Given the description of an element on the screen output the (x, y) to click on. 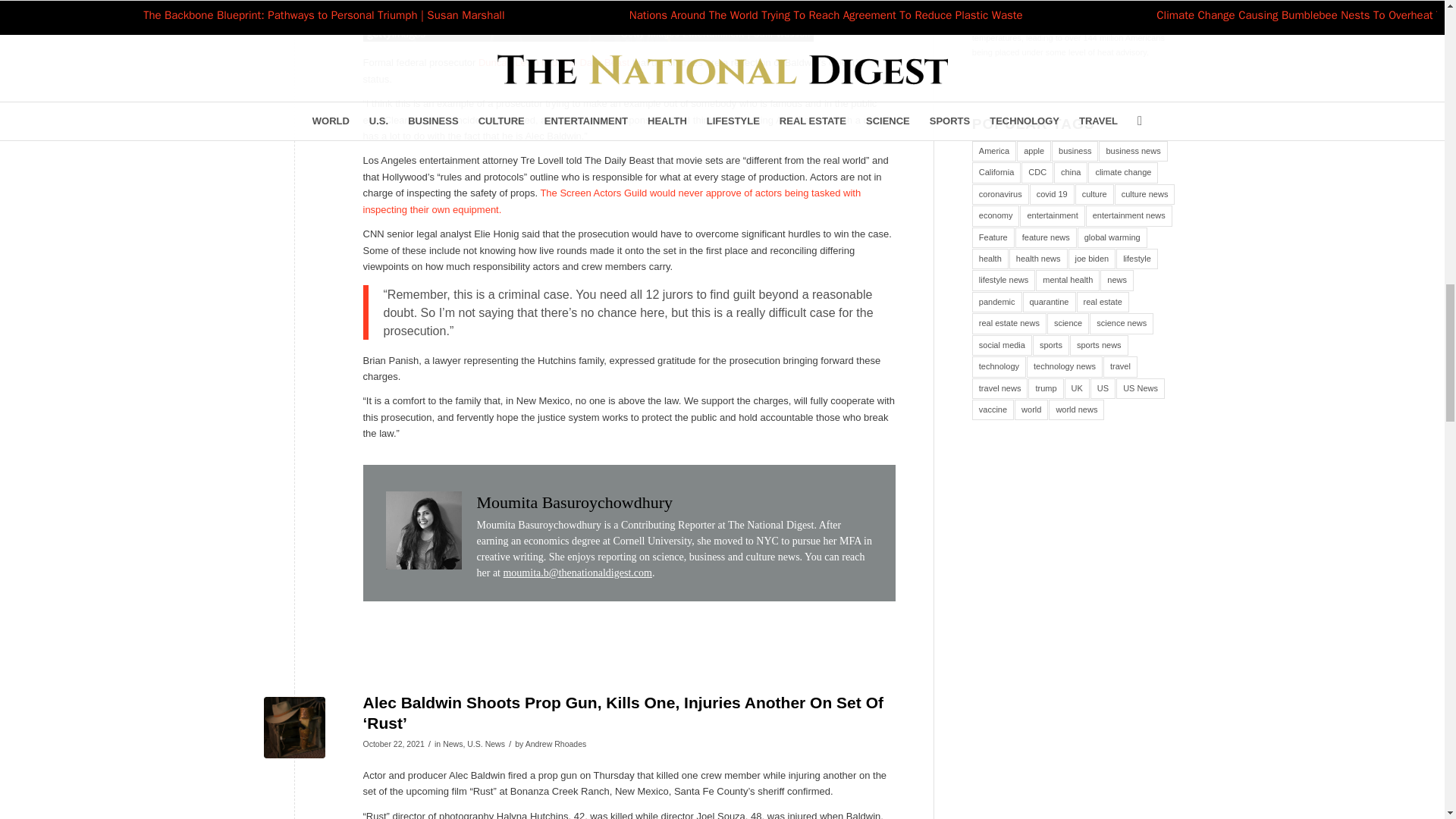
Moumita Basuroychowdhury (573, 502)
News (452, 743)
Duncan Levin told The Daily Beast (553, 61)
Posts by Andrew Rhoades (555, 743)
Western Cowboy Gun (293, 727)
